Given the description of an element on the screen output the (x, y) to click on. 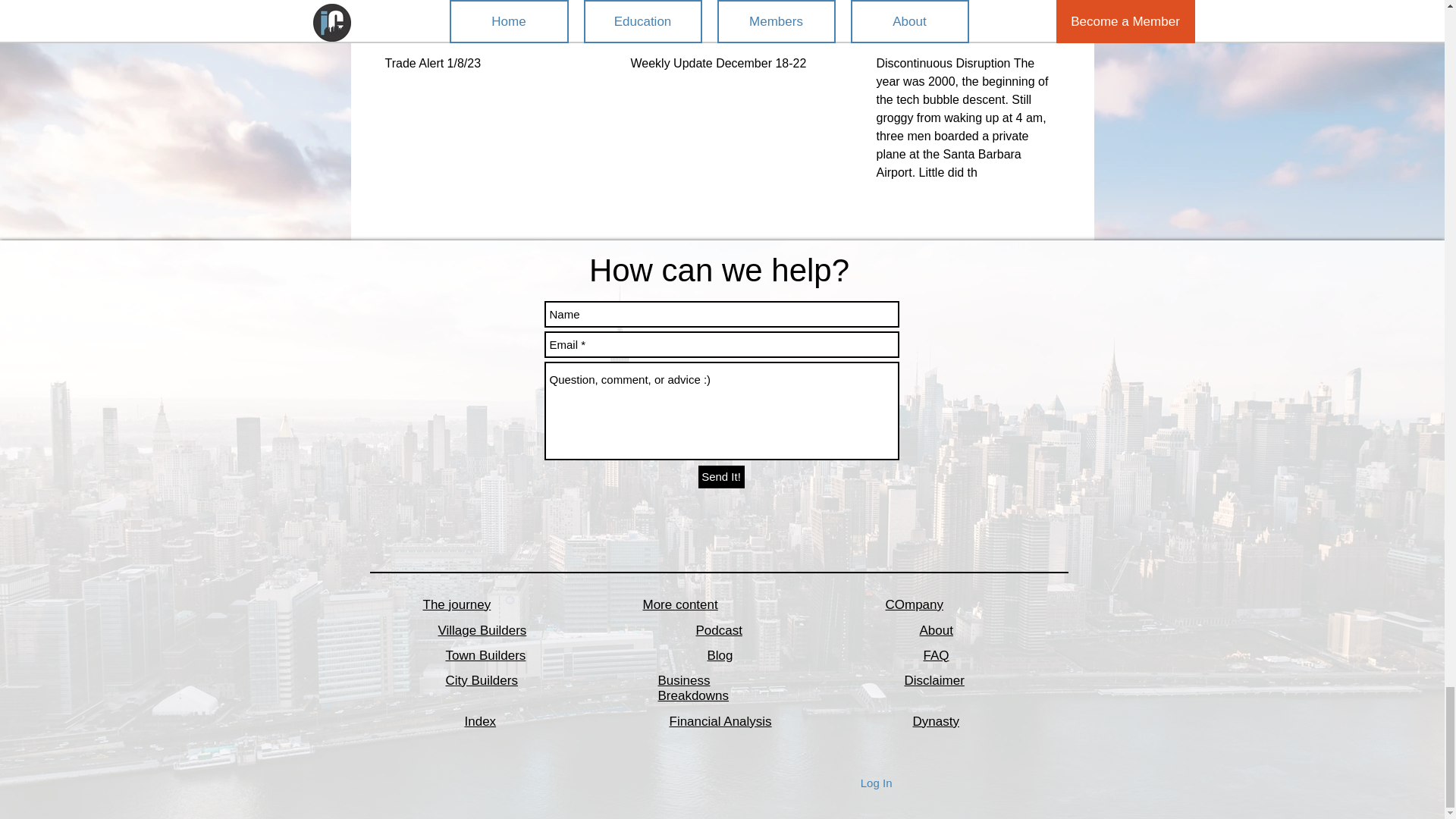
Discontinuous Disruption (967, 34)
Village Builders (482, 630)
COmpany (914, 604)
Financial Analysis (719, 721)
Disclaimer (933, 680)
Dynasty (935, 721)
Dec 18-22, 2023 (721, 34)
Log In (876, 782)
About (935, 630)
More content (680, 604)
The journey (457, 604)
City Builders (481, 680)
FAQ (936, 655)
Send It! (720, 477)
Town Builders (485, 655)
